Given the description of an element on the screen output the (x, y) to click on. 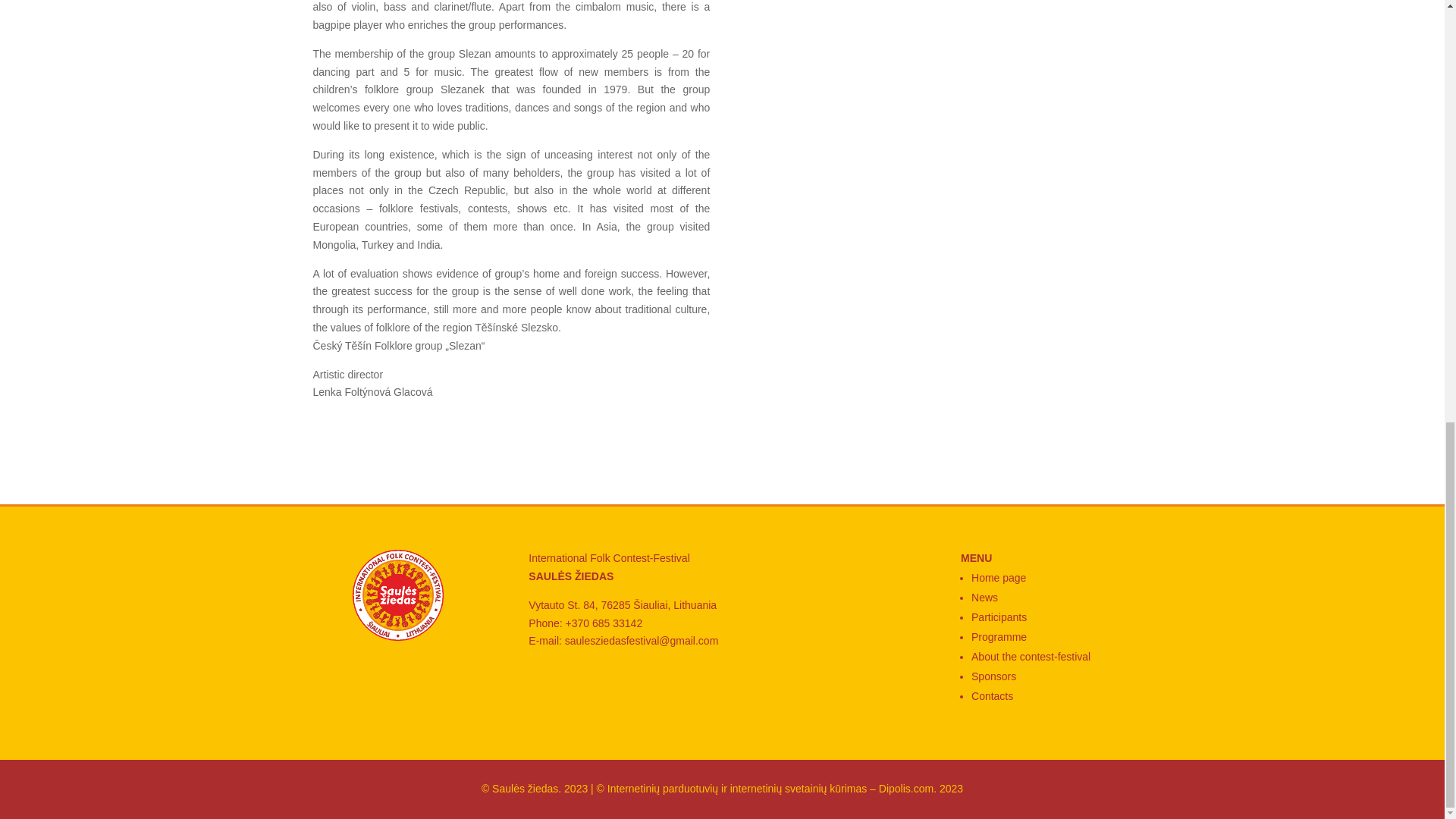
News (984, 597)
Home page (998, 577)
Dipolis.com (906, 788)
Programme (998, 636)
Contacts (992, 695)
About the contest-festival (1030, 656)
Participants (998, 616)
Sponsors (993, 676)
